Given the description of an element on the screen output the (x, y) to click on. 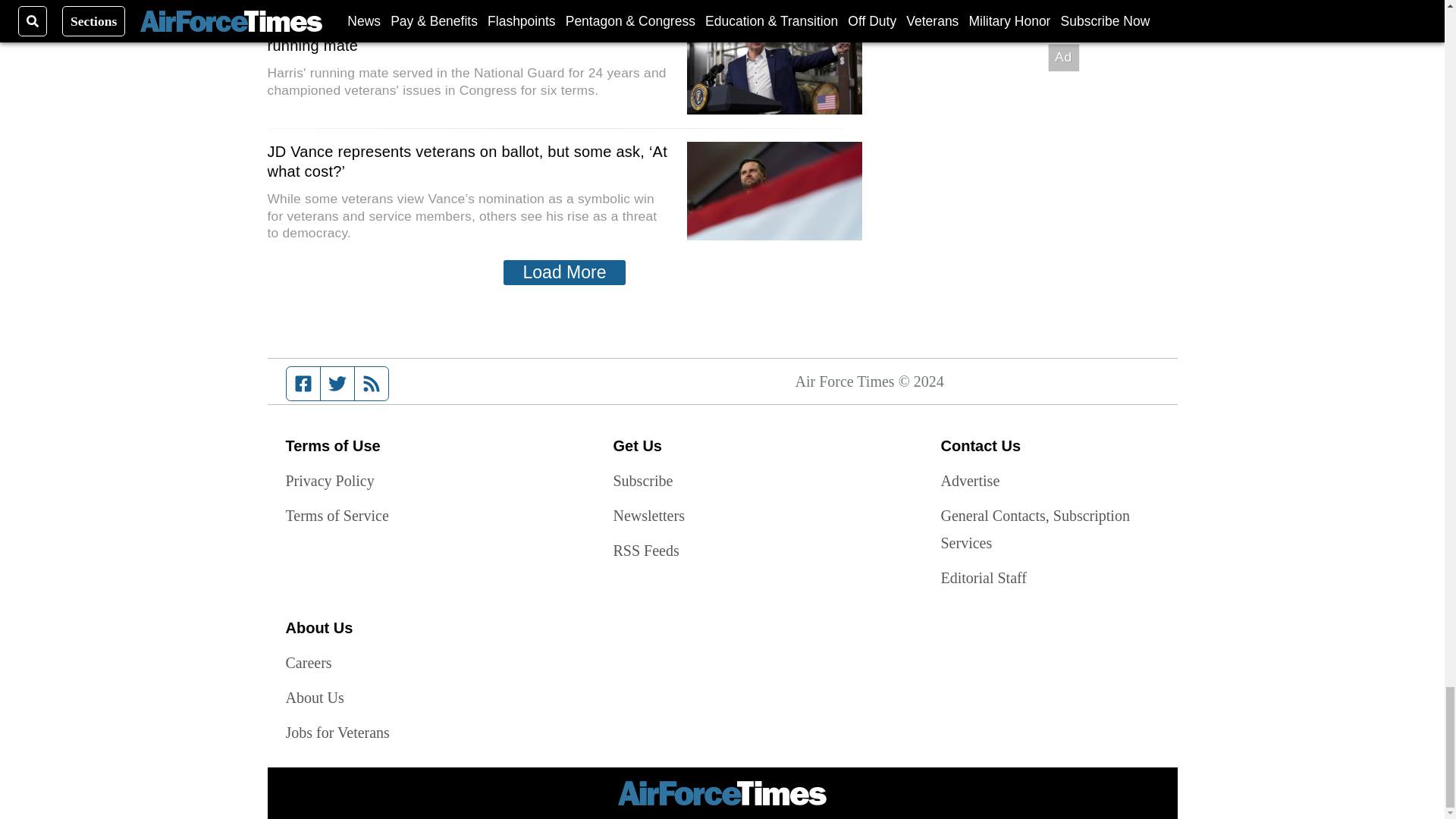
Facebook page (303, 383)
Twitter feed (336, 383)
RSS feed (371, 383)
